Given the description of an element on the screen output the (x, y) to click on. 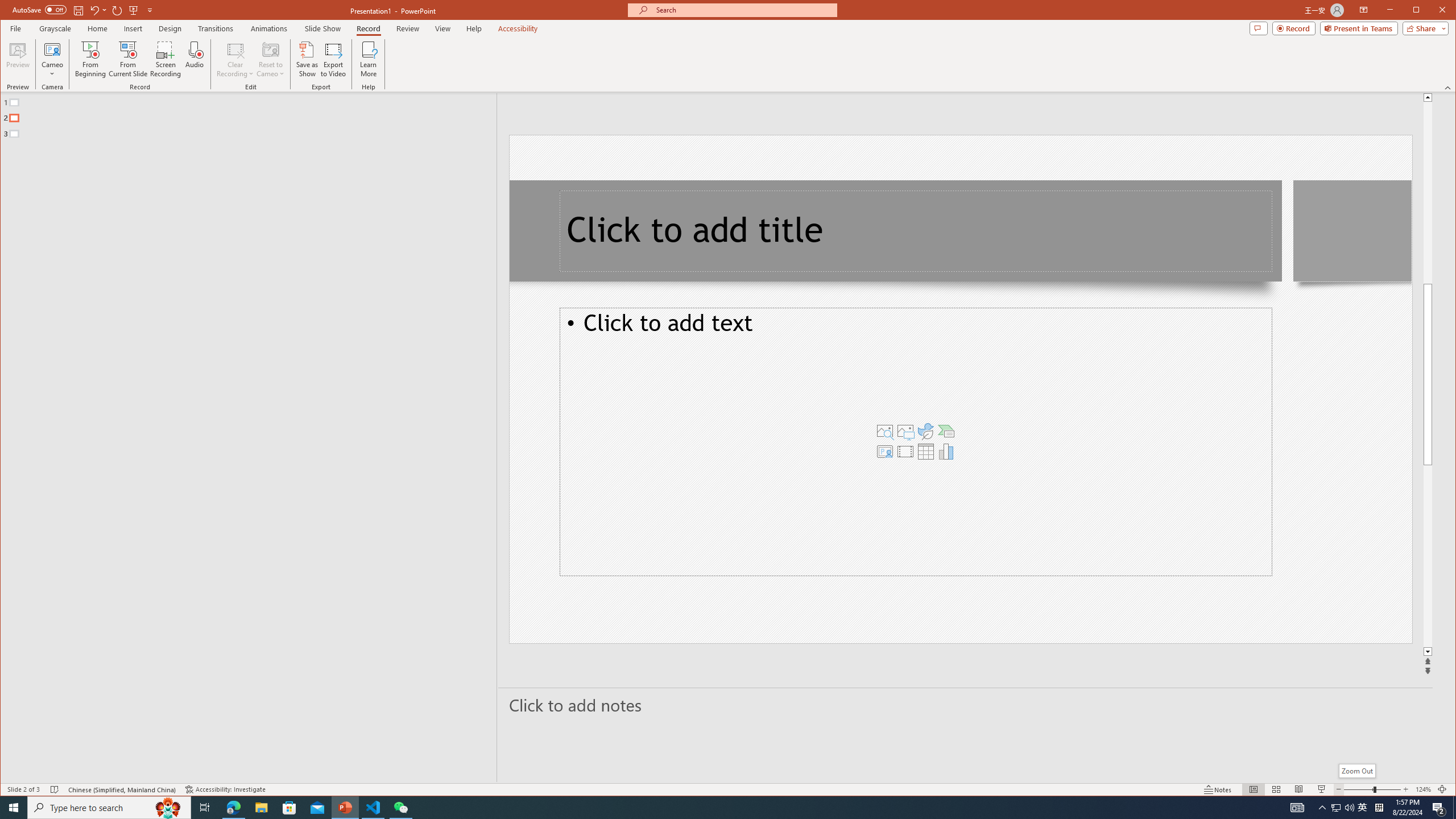
Content Placeholder (915, 441)
Maximize (1432, 11)
Outline (252, 115)
